Given the description of an element on the screen output the (x, y) to click on. 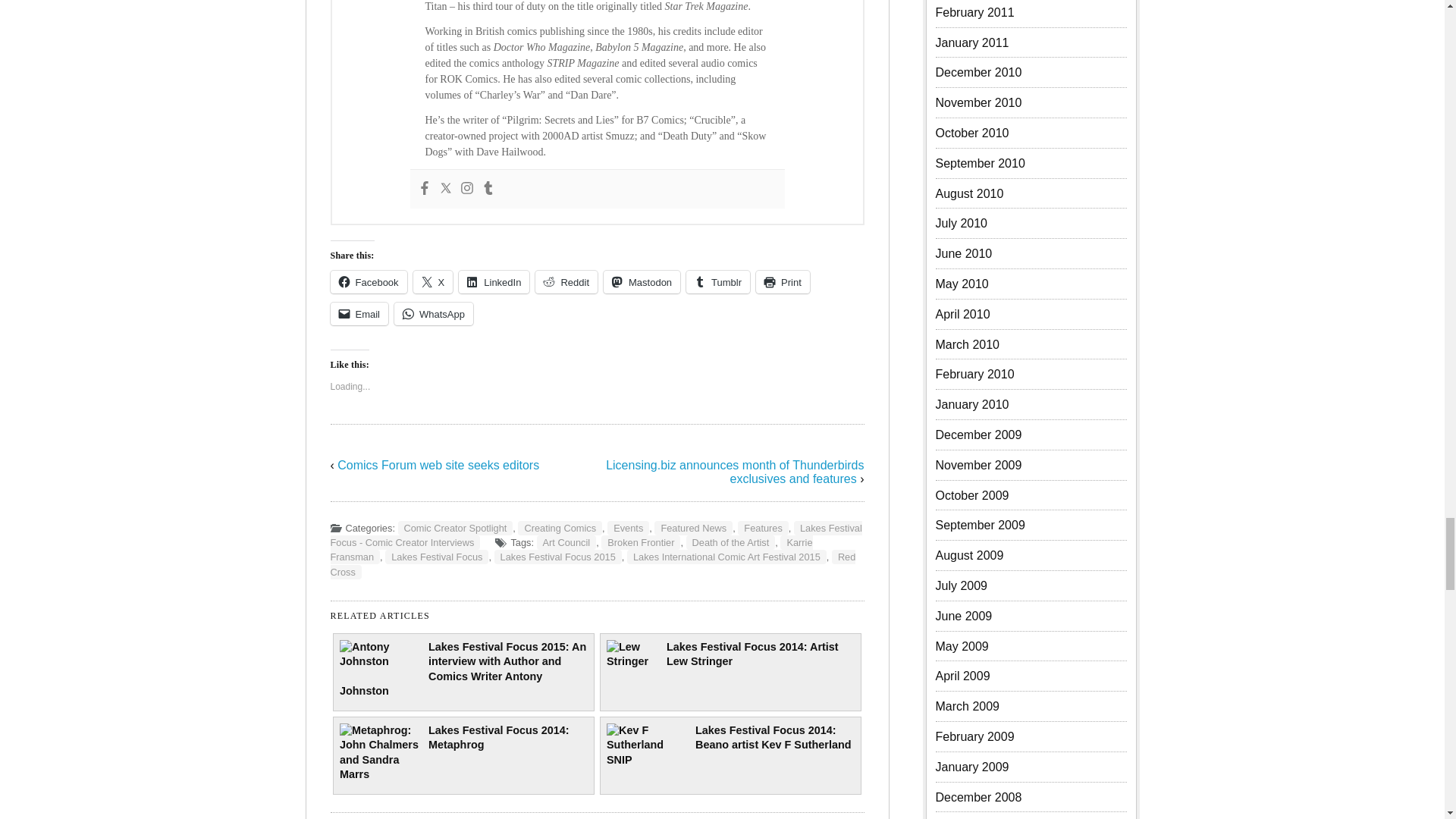
Click to share on Reddit (565, 282)
Click to share on LinkedIn (493, 282)
Click to share on X (432, 282)
Click to share on Tumblr (717, 282)
Click to print (782, 282)
Click to share on Facebook (368, 282)
Click to email a link to a friend (359, 313)
Click to share on Mastodon (641, 282)
